Given the description of an element on the screen output the (x, y) to click on. 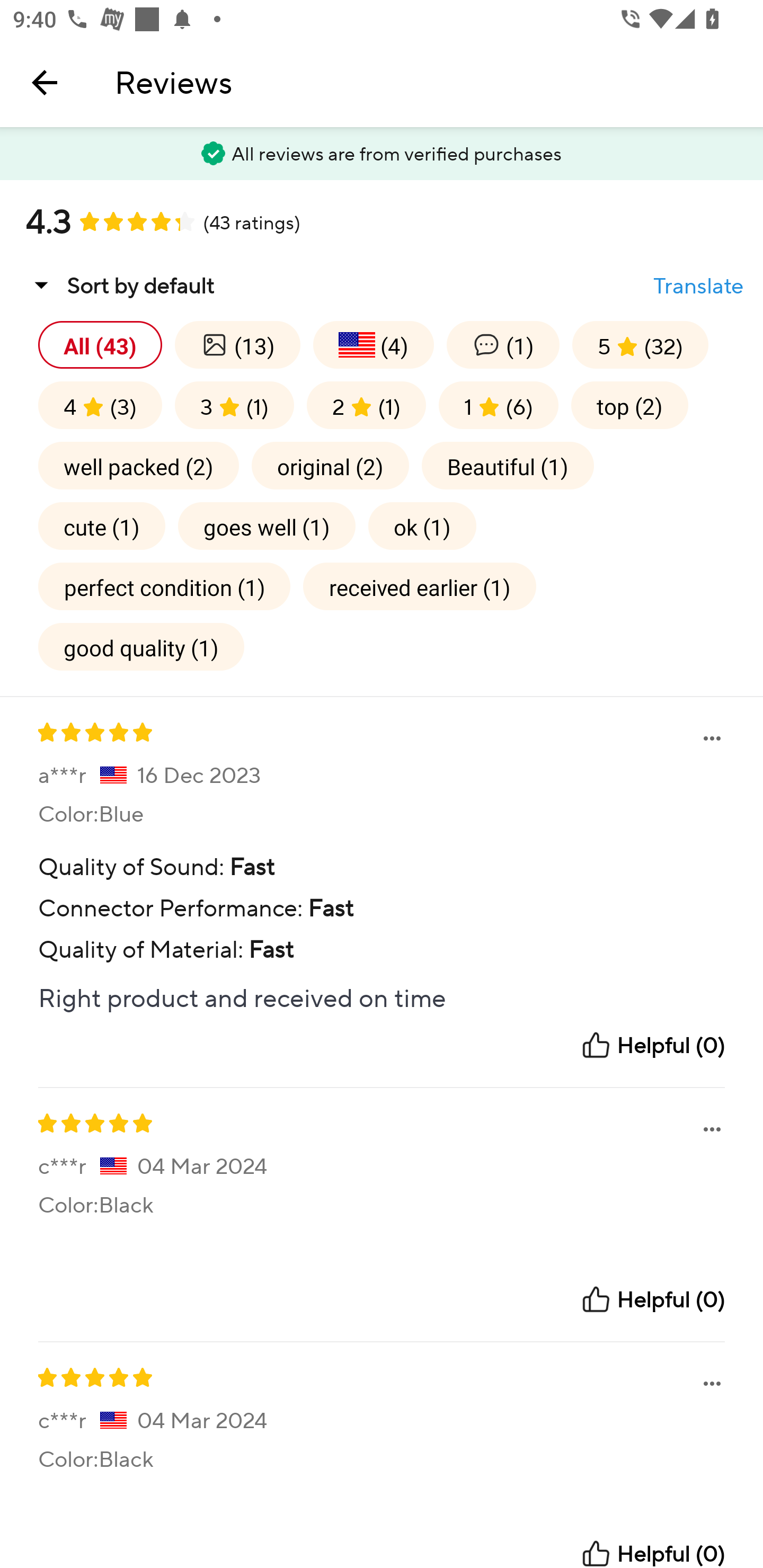
Navigate up (44, 82)
Sort by default (119, 285)
Translate (698, 285)
All (43) (99, 344)
 (13) (237, 344)
 (4) (373, 344)
 (1) (502, 344)
5 (32) (640, 344)
4 (3) (99, 405)
3 (1) (233, 405)
2 (1) (365, 405)
1 (6) (498, 405)
top (2) (629, 405)
well packed (2) (138, 465)
original (2) (329, 465)
Beautiful (1) (507, 465)
cute (1) (101, 525)
goes well (1) (266, 525)
ok (1) (422, 525)
perfect condition (1) (164, 585)
received earlier (1) (419, 585)
good quality (1) (141, 646)
Helpful (0) (651, 1044)
Helpful (0) (651, 1299)
Helpful (0) (651, 1553)
